Given the description of an element on the screen output the (x, y) to click on. 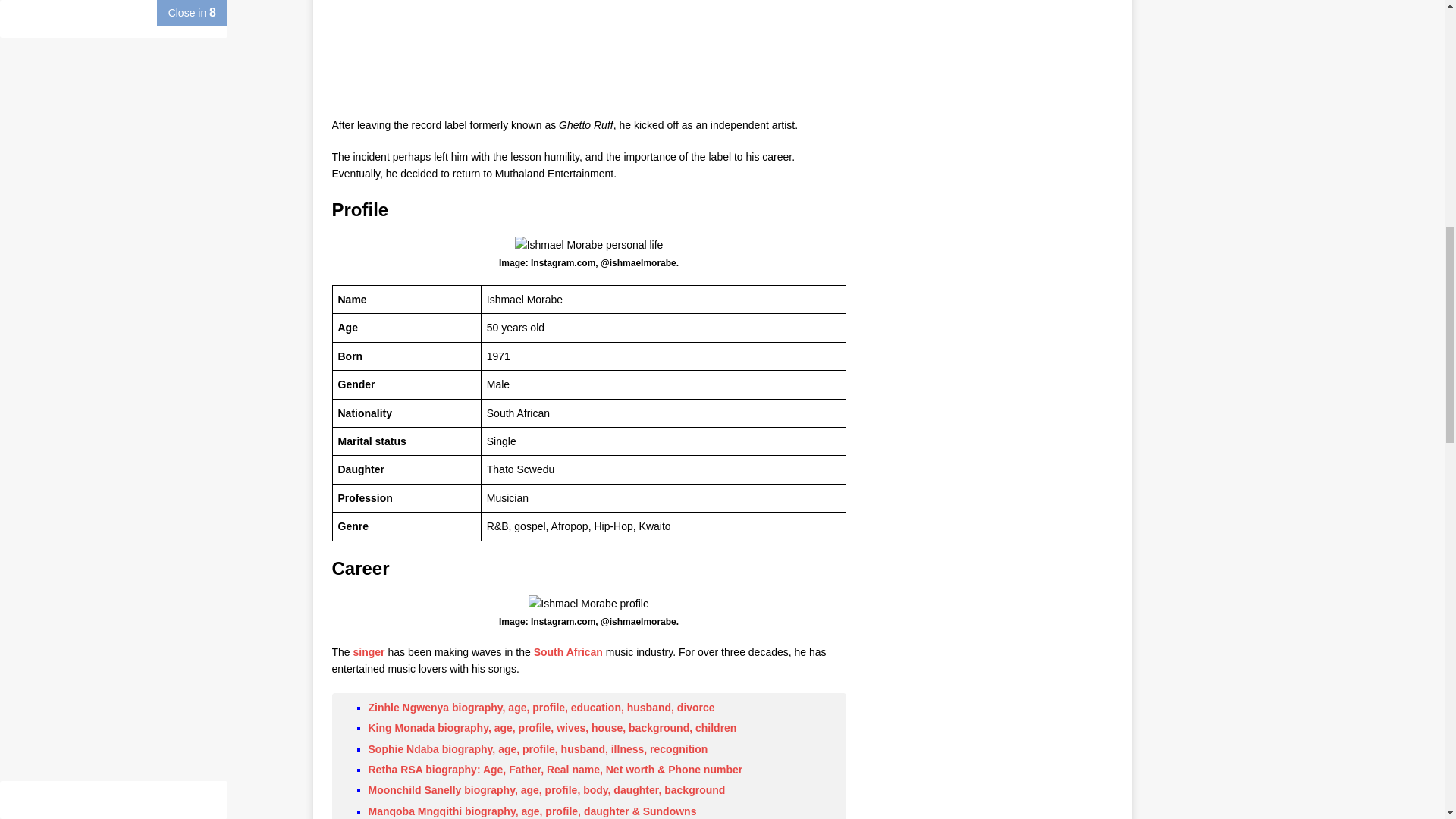
South African (568, 652)
singer (369, 652)
